Given the description of an element on the screen output the (x, y) to click on. 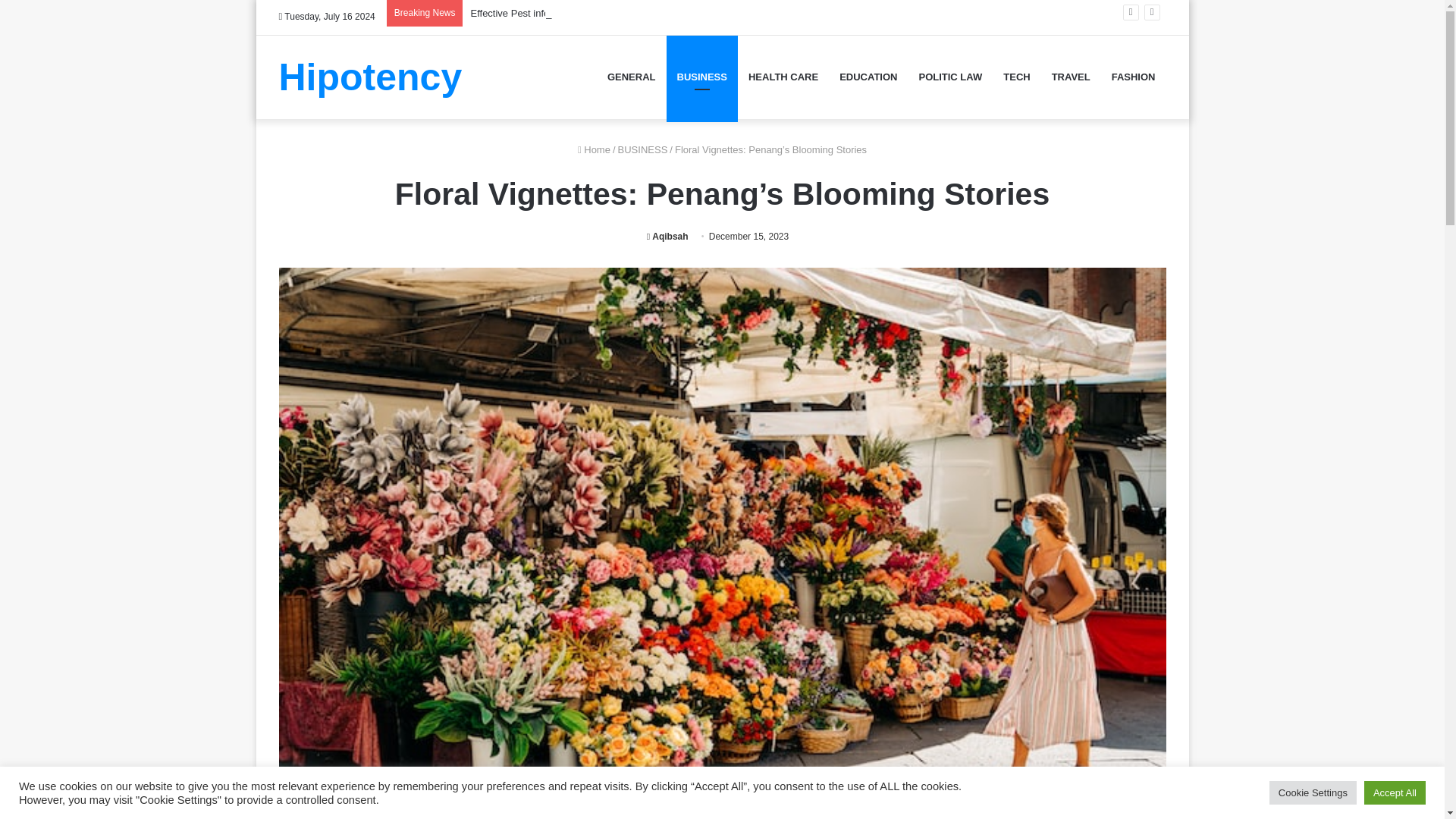
EDUCATION (867, 76)
POLITIC LAW (949, 76)
Hipotency (371, 76)
Hipotency (371, 76)
Aqibsah (667, 235)
BUSINESS (642, 149)
Aqibsah (667, 235)
HEALTH CARE (783, 76)
Home (594, 149)
